Given the description of an element on the screen output the (x, y) to click on. 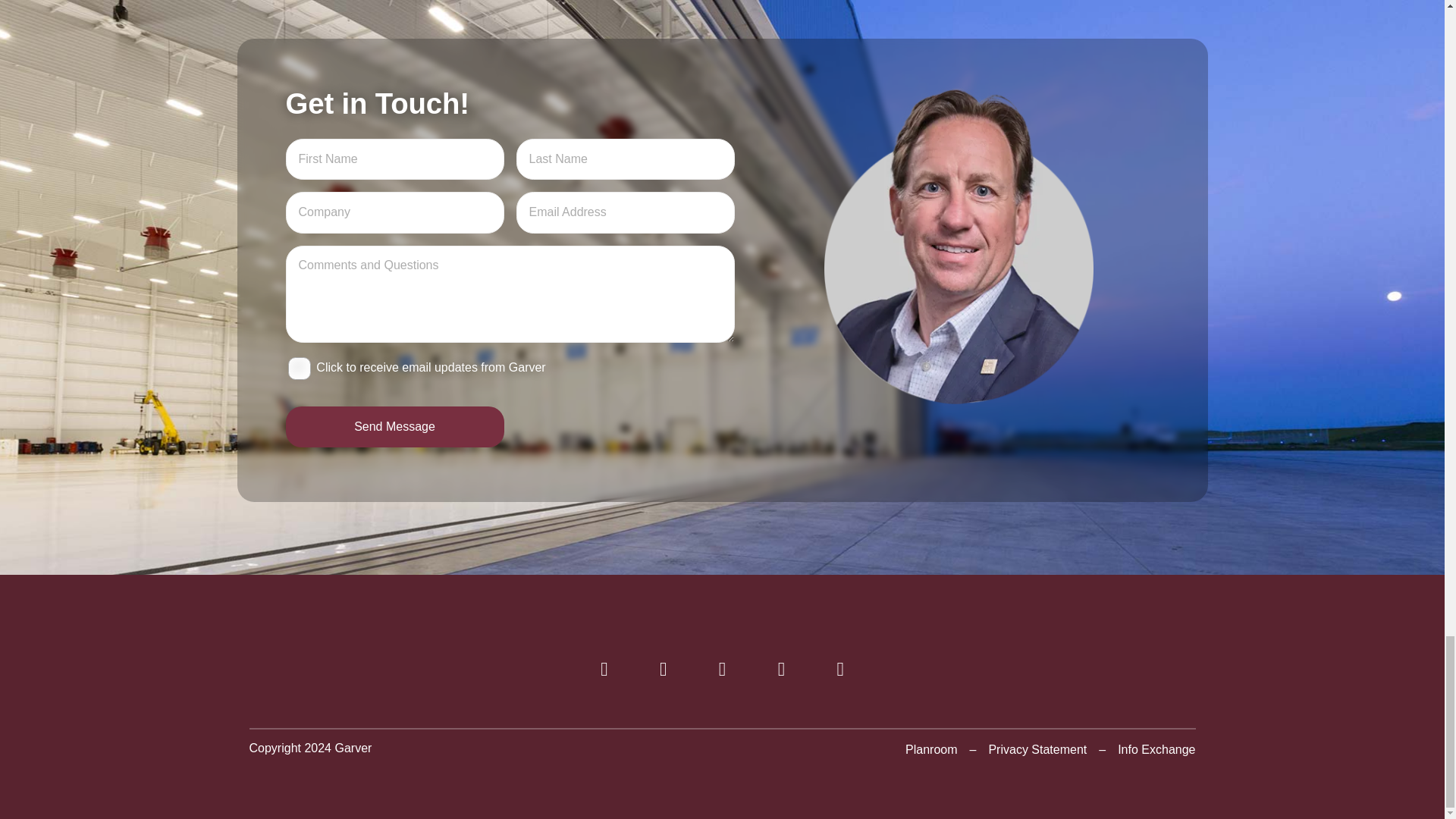
Garver on Instagram (839, 671)
Garver on Facebook (603, 671)
Garver on YouTube (781, 671)
Garver on Twitter (662, 671)
Garver on linkedIn (721, 671)
